Given the description of an element on the screen output the (x, y) to click on. 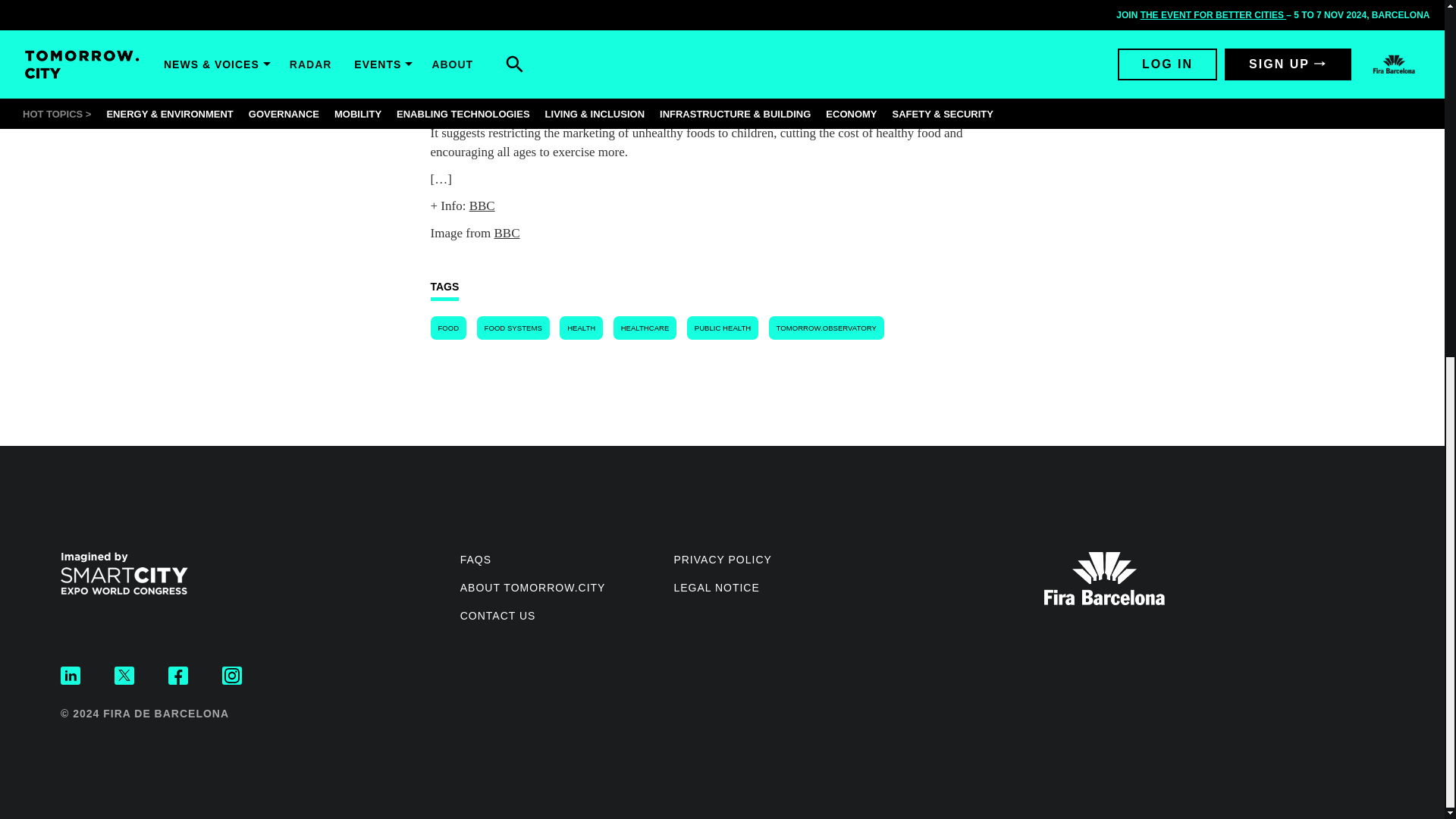
LEGAL NOTICE (715, 587)
HEALTHCARE (644, 327)
CONTACT US (497, 615)
Twitter (124, 675)
BBC (507, 233)
FAQS (476, 559)
logo fira cmyk blanc (1104, 578)
ABOUT TOMORROW.CITY (532, 587)
Instagram (232, 675)
FOOD (448, 327)
Linkedin (70, 675)
TOMORROW.OBSERVATORY (825, 327)
HEALTH (580, 327)
PRIVACY POLICY (721, 559)
PUBLIC HEALTH (722, 327)
